Given the description of an element on the screen output the (x, y) to click on. 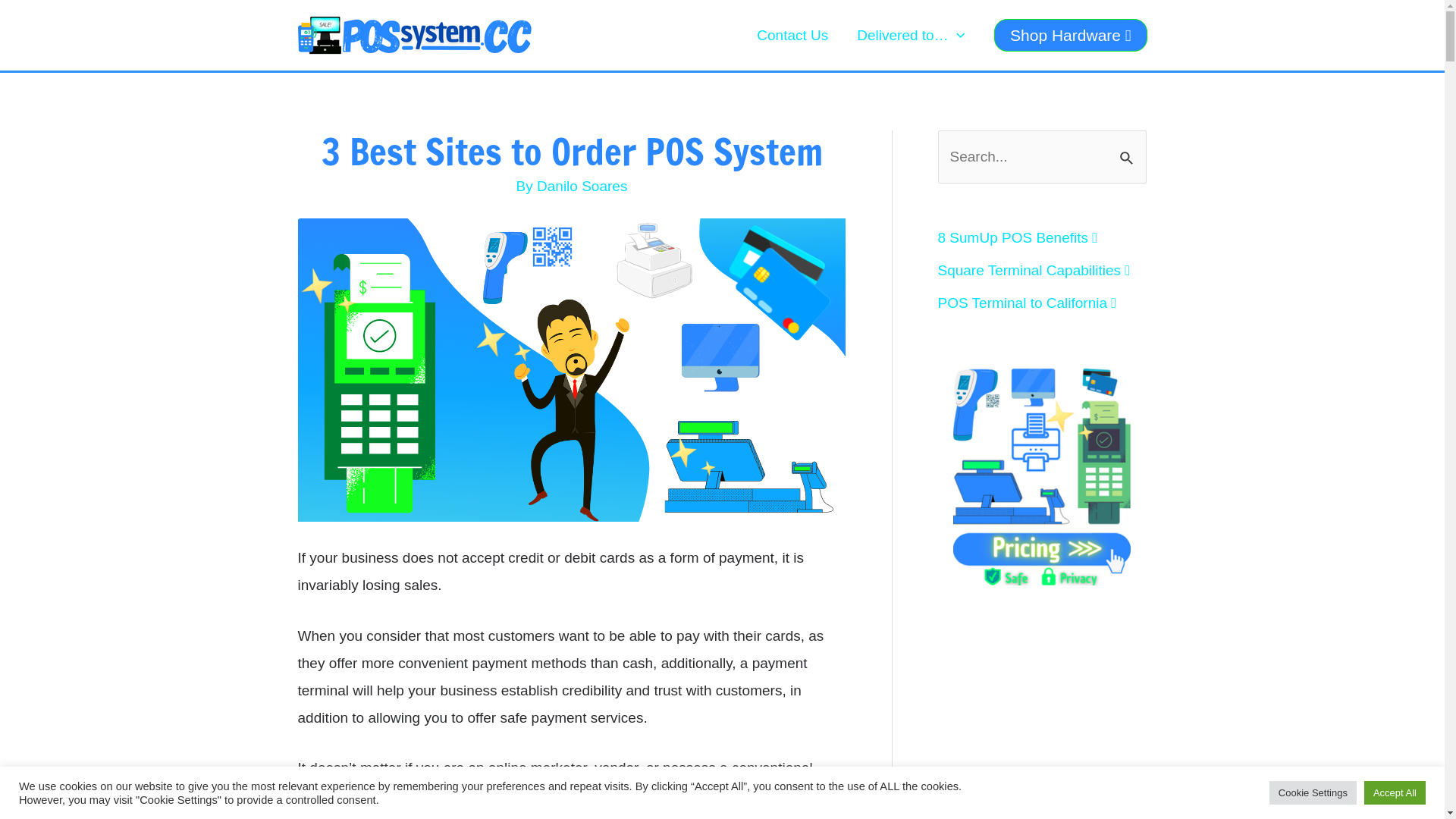
Danilo Soares Element type: text (581, 186)
Contact Us Element type: text (792, 35)
Search Element type: text (1128, 147)
Accept All Element type: text (1394, 792)
Cookie Settings Element type: text (1312, 792)
